Given the description of an element on the screen output the (x, y) to click on. 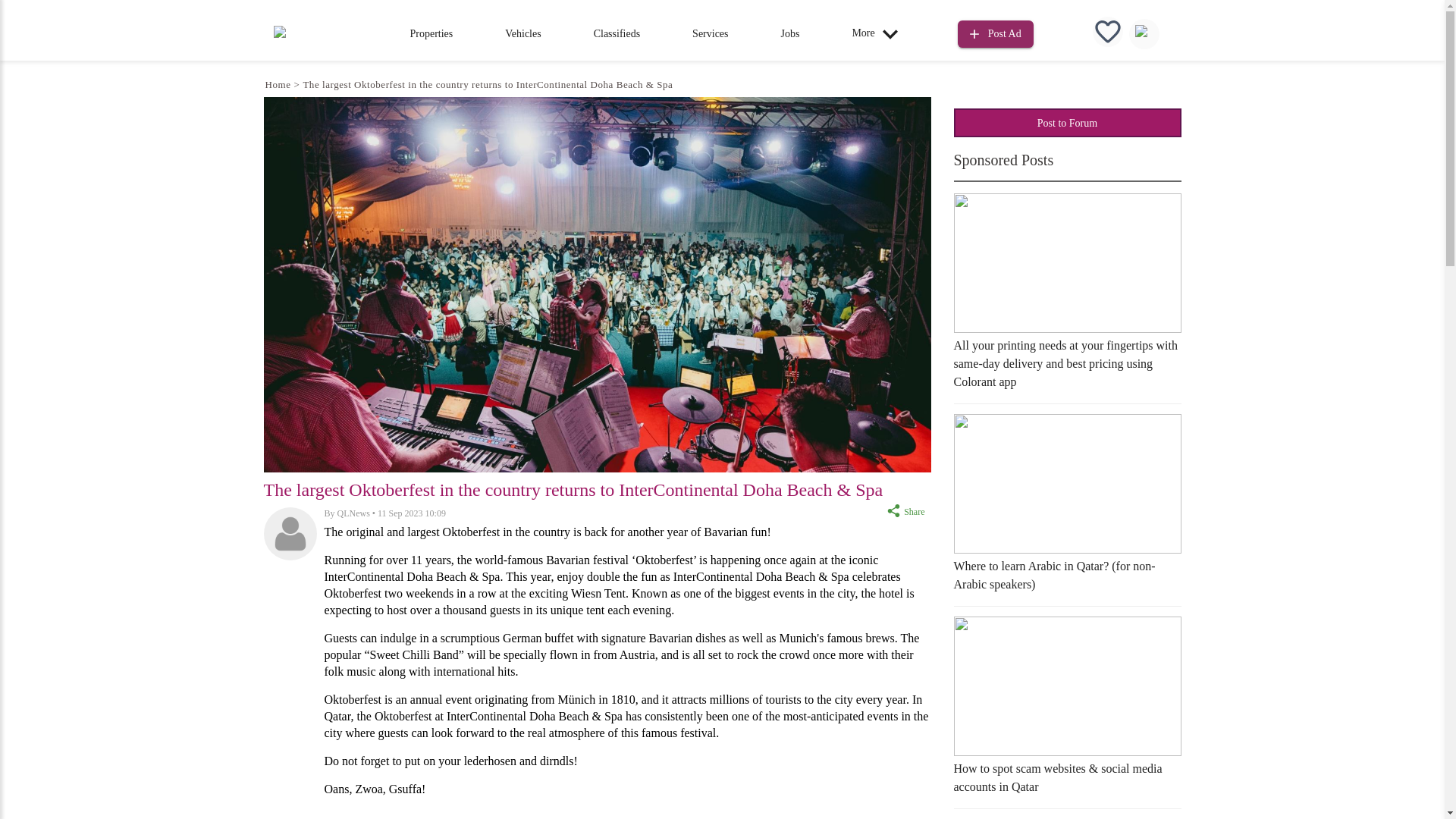
Classifieds (617, 33)
Post Ad (995, 34)
Post Ad (995, 32)
More (877, 33)
View user profile. (353, 512)
